Given the description of an element on the screen output the (x, y) to click on. 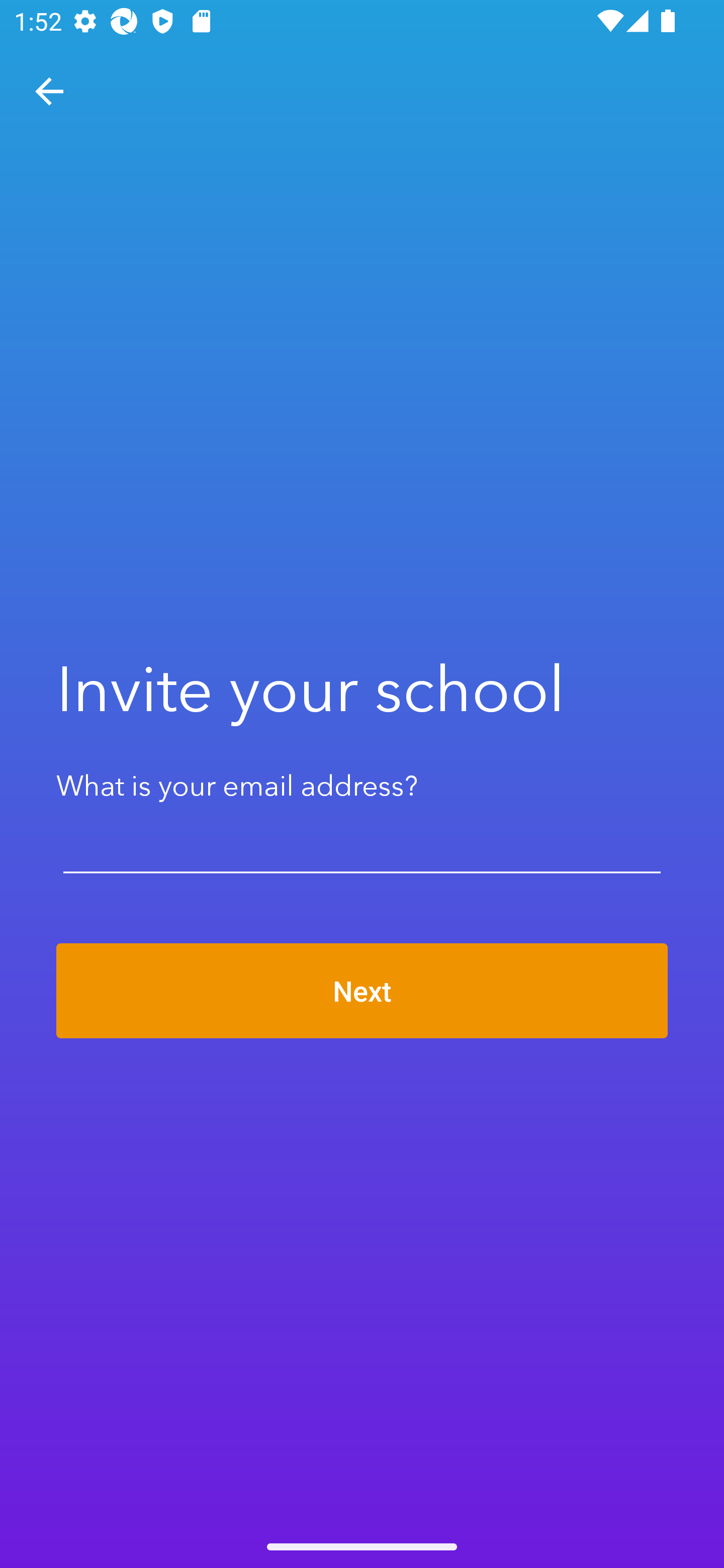
Navigate up (49, 91)
Next (361, 990)
